Given the description of an element on the screen output the (x, y) to click on. 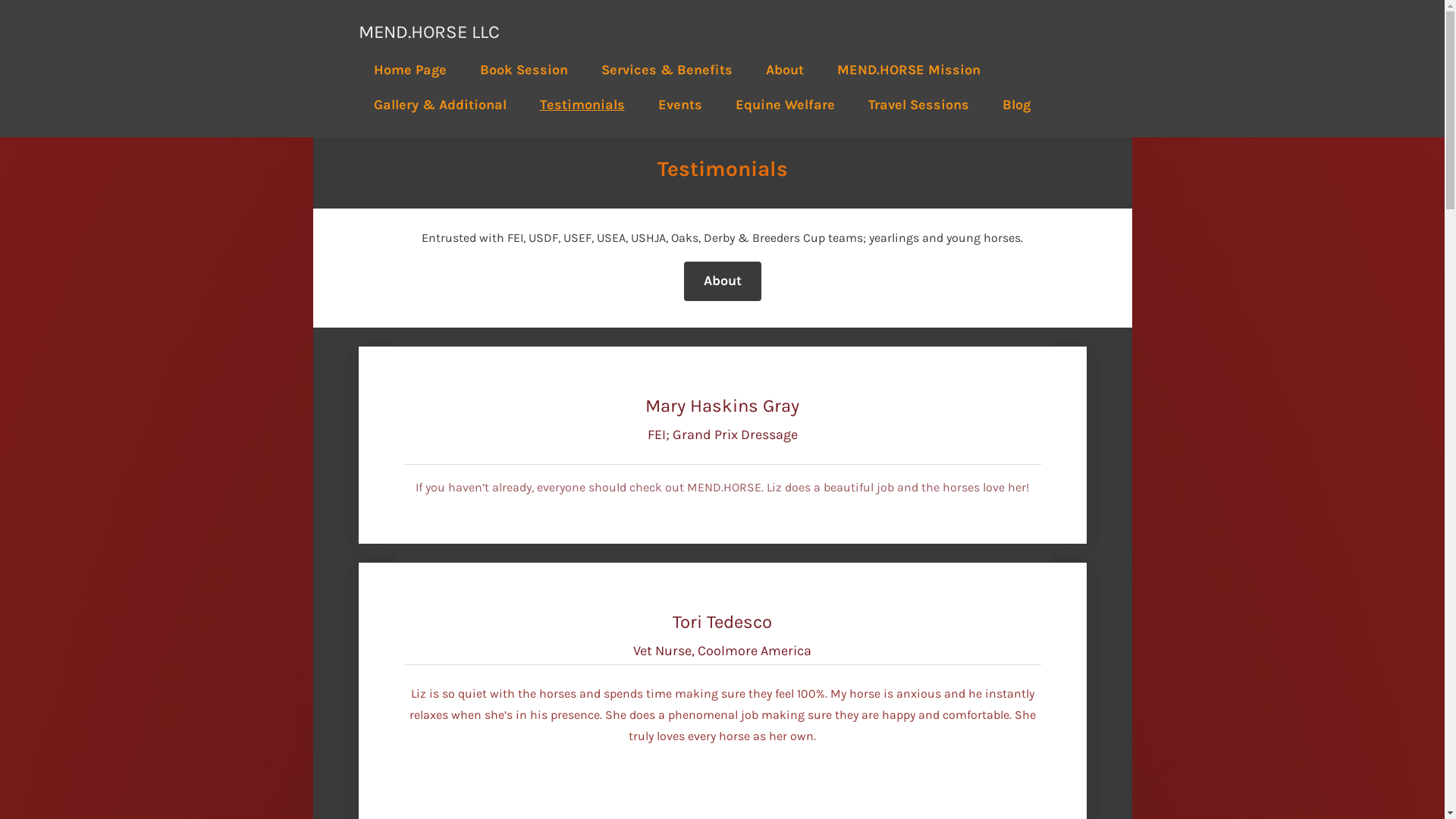
MEND.HORSE LLC (428, 31)
Equine Welfare (785, 104)
Blog (1016, 104)
Home Page (409, 69)
Testimonials (582, 104)
Travel Sessions (917, 104)
MEND.HORSE Mission (908, 69)
About (722, 281)
About (784, 69)
Book Session (523, 69)
